Given the description of an element on the screen output the (x, y) to click on. 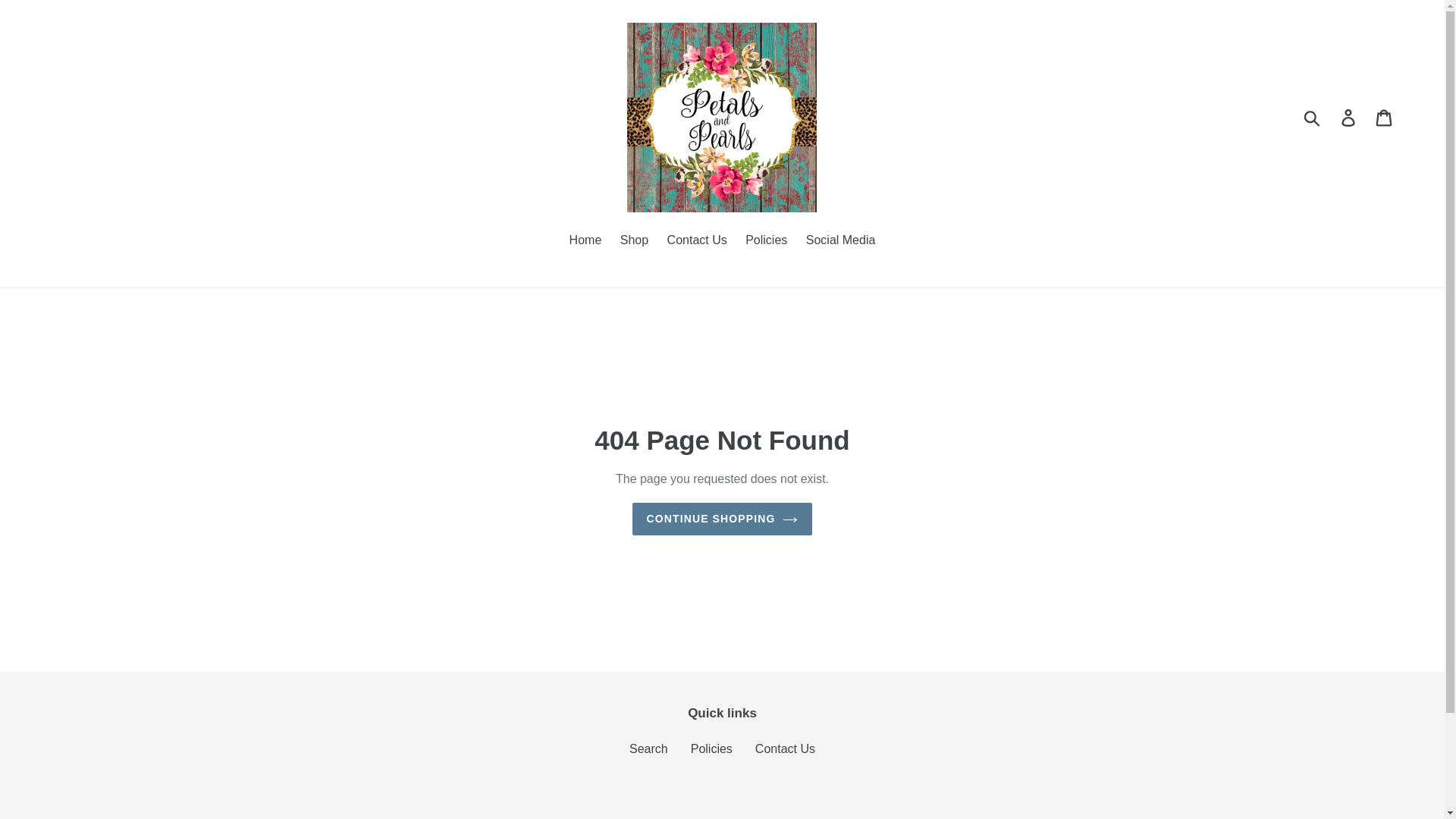
CONTINUE SHOPPING (721, 518)
Social Media (840, 240)
Search (648, 748)
Shop (634, 240)
Home (586, 240)
Contact Us (785, 748)
Policies (711, 748)
Cart (1385, 117)
Log in (1349, 117)
Policies (766, 240)
